Given the description of an element on the screen output the (x, y) to click on. 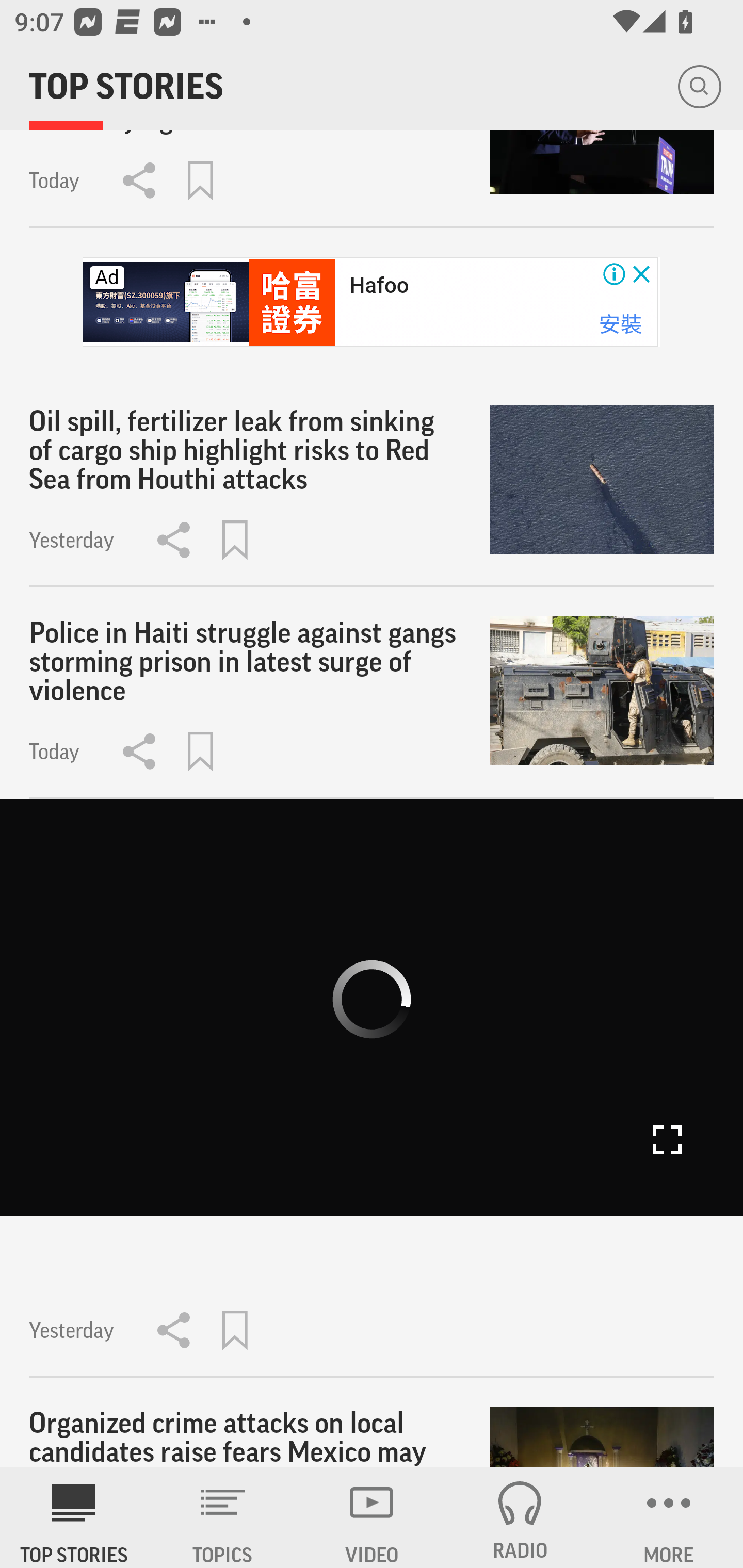
Hafoo (378, 285)
安裝 (620, 323)
toggle controls Fullscreen Yesterday (371, 1088)
Fullscreen (666, 1139)
AP News TOP STORIES (74, 1517)
TOPICS (222, 1517)
VIDEO (371, 1517)
RADIO (519, 1517)
MORE (668, 1517)
